Given the description of an element on the screen output the (x, y) to click on. 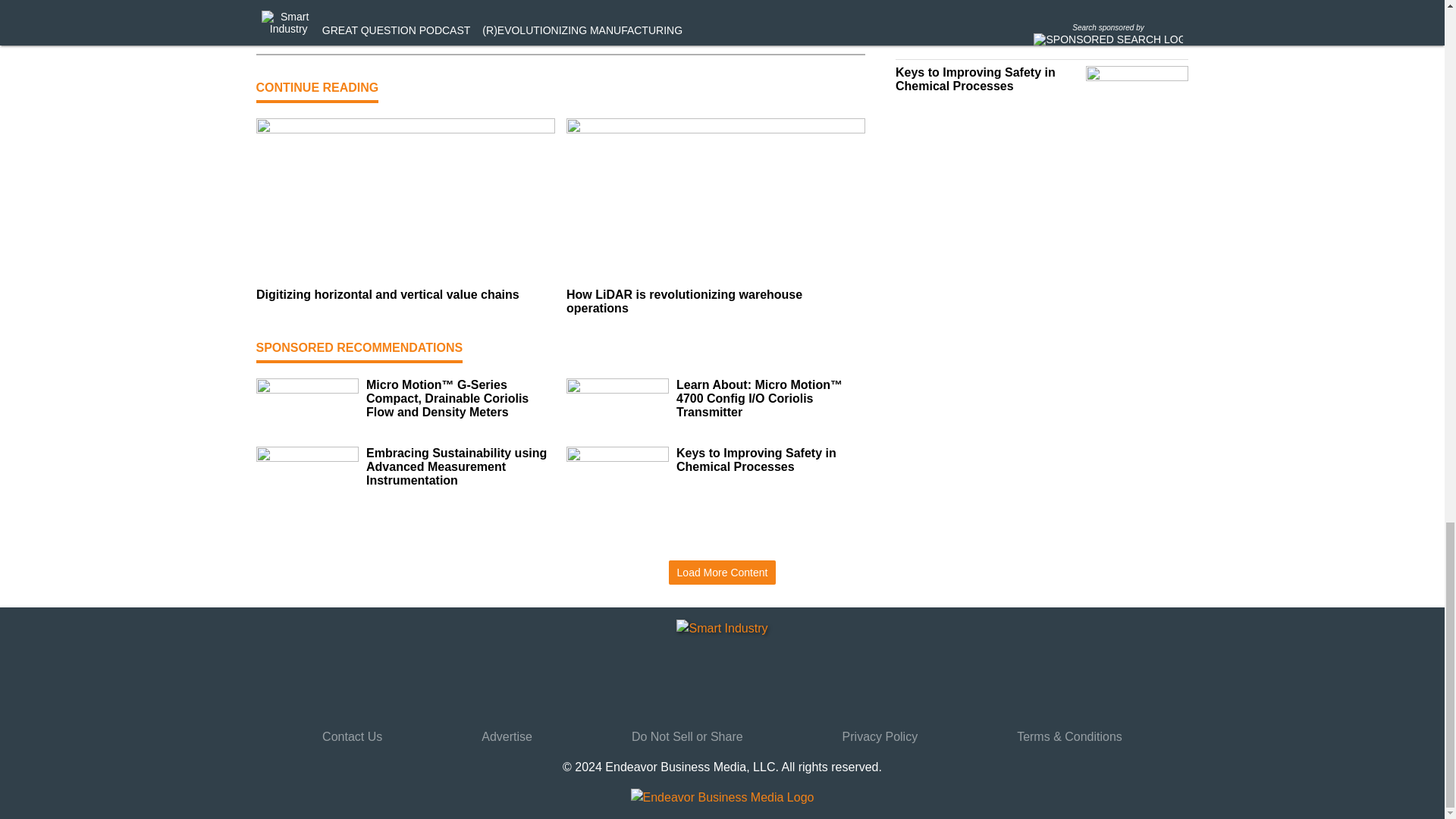
How LiDAR is revolutionizing warehouse operations (715, 301)
Keys to Improving Safety in Chemical Processes (770, 460)
PlantTours  (351, 33)
Digitizing horizontal and vertical value chains (405, 295)
